Given the description of an element on the screen output the (x, y) to click on. 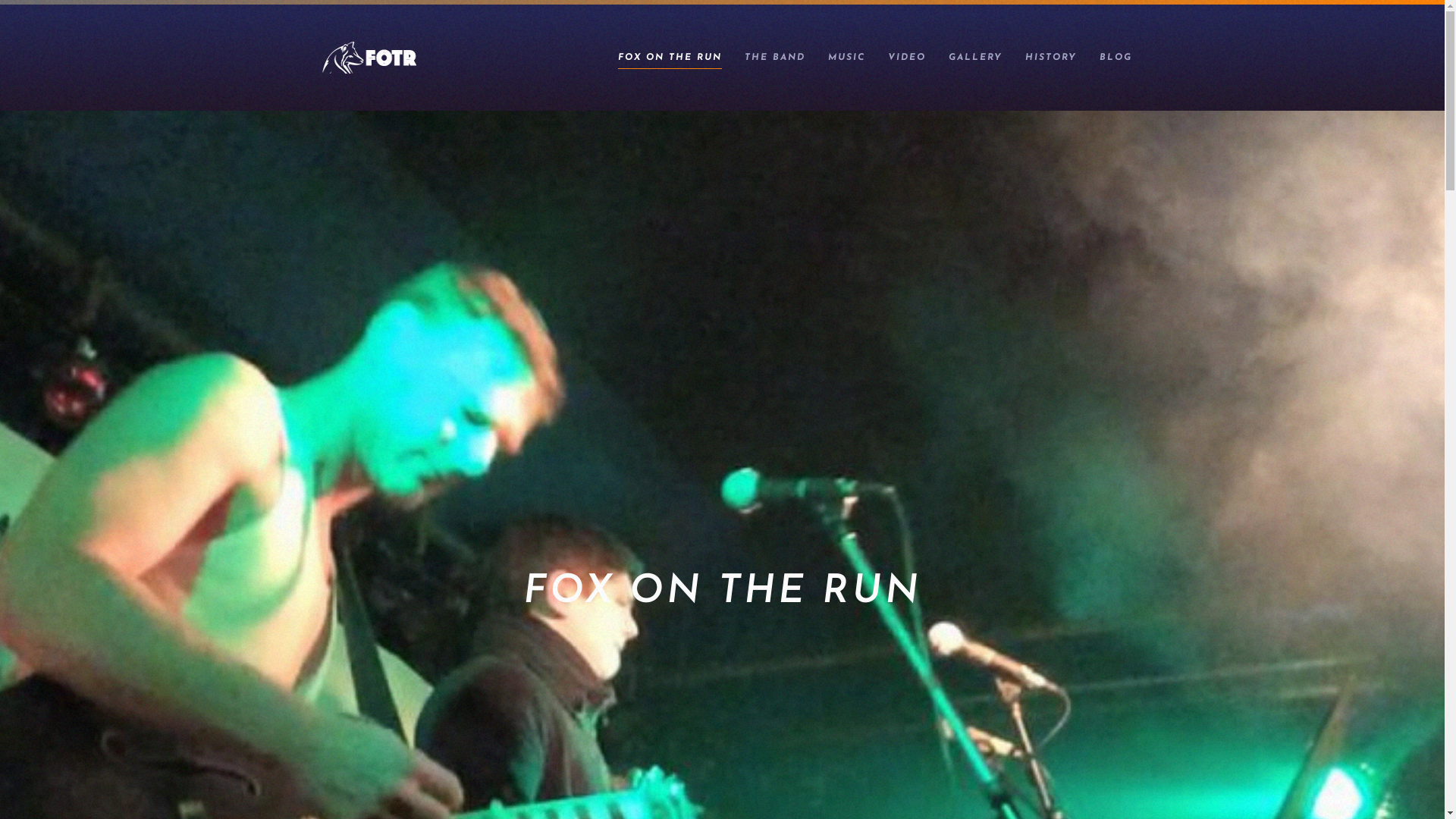
FOX ON THE RUN Element type: text (669, 57)
THE BAND Element type: text (773, 57)
HISTORY Element type: text (1050, 57)
MUSIC Element type: text (845, 57)
VIDEO Element type: text (906, 57)
GALLERY Element type: text (975, 57)
BLOG Element type: text (1114, 57)
